Given the description of an element on the screen output the (x, y) to click on. 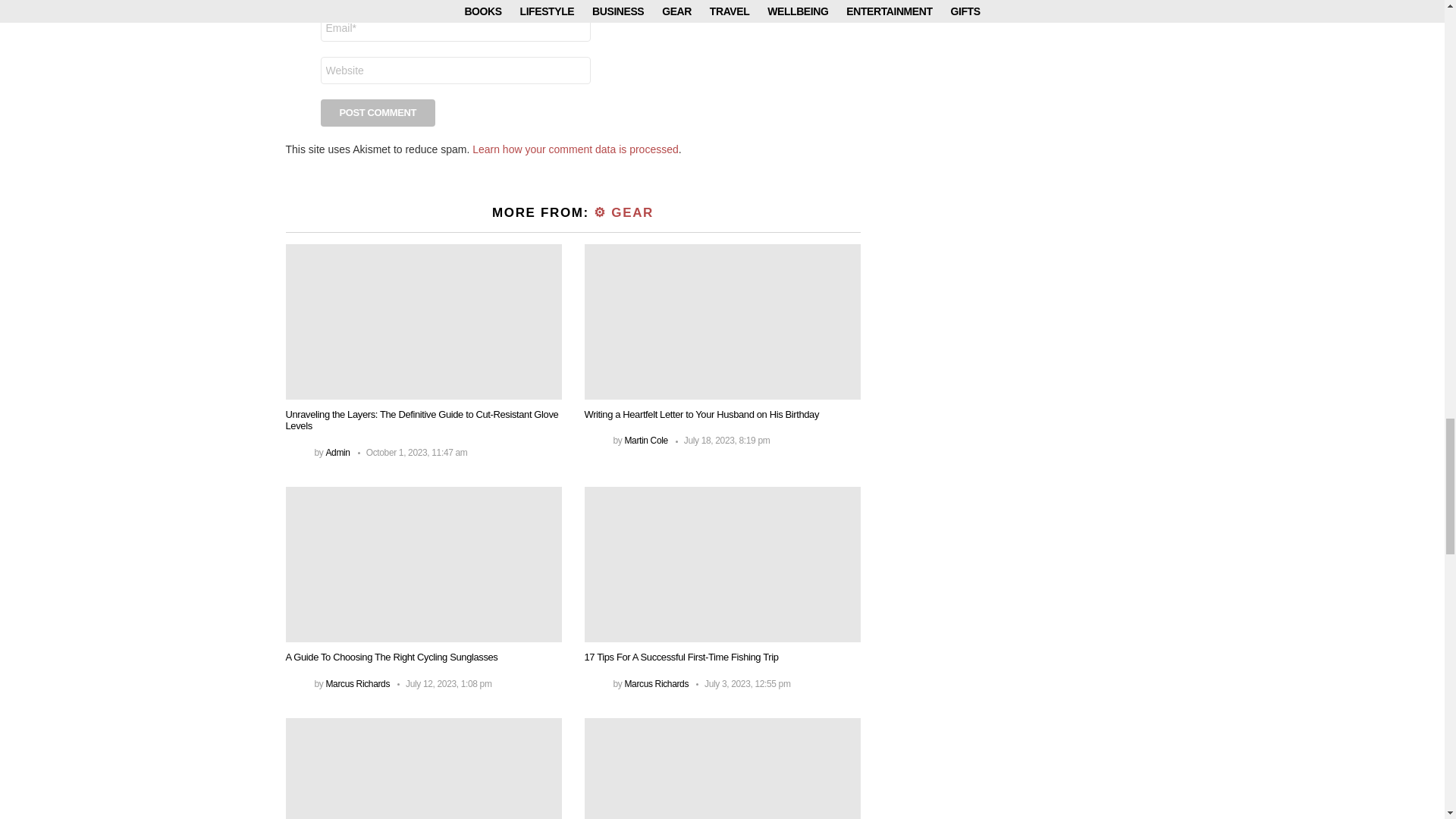
The Most Important Equipment That Police Officers Need (721, 768)
A Guide To Choosing The Right Cycling Sunglasses (422, 564)
Exploring Molle Attachment Options For Gear (422, 768)
Posts by Marcus Richards (357, 683)
17 Tips For A Successful First-Time Fishing Trip (721, 564)
Posts by Marcus Richards (656, 683)
Writing a Heartfelt Letter to Your Husband on His Birthday (721, 321)
Posts by Admin (336, 452)
Posts by Martin Cole (645, 439)
Post Comment (377, 112)
